Given the description of an element on the screen output the (x, y) to click on. 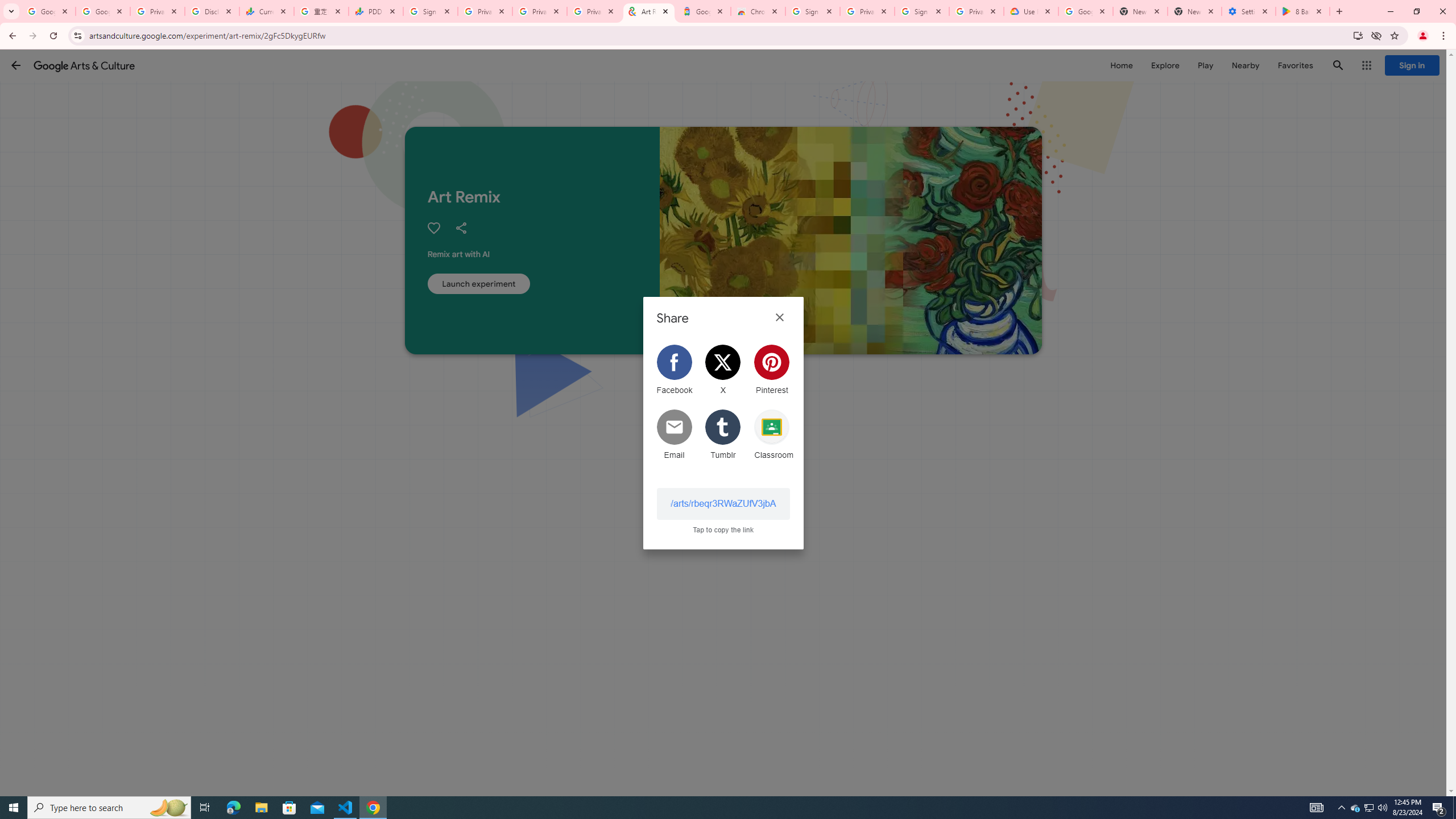
Home (1120, 65)
Sign in - Google Accounts (430, 11)
Privacy Checkup (539, 11)
Explore (1164, 65)
Share by email (673, 434)
Google Workspace Admin Community (48, 11)
Play (1205, 65)
